Given the description of an element on the screen output the (x, y) to click on. 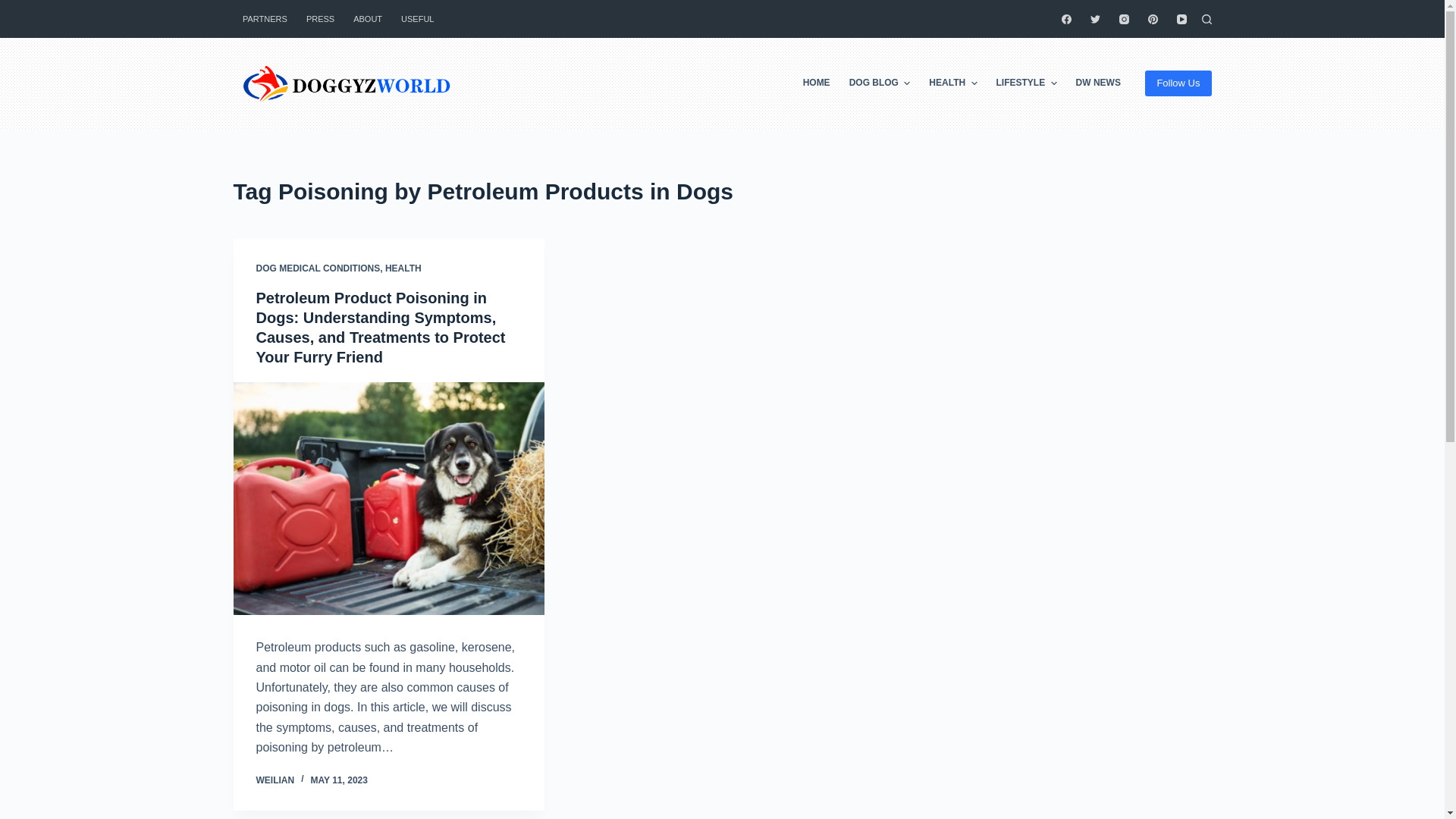
Skip to content (15, 7)
Tag Poisoning by Petroleum Products in Dogs (721, 191)
Posts by WeiLian (275, 779)
